Given the description of an element on the screen output the (x, y) to click on. 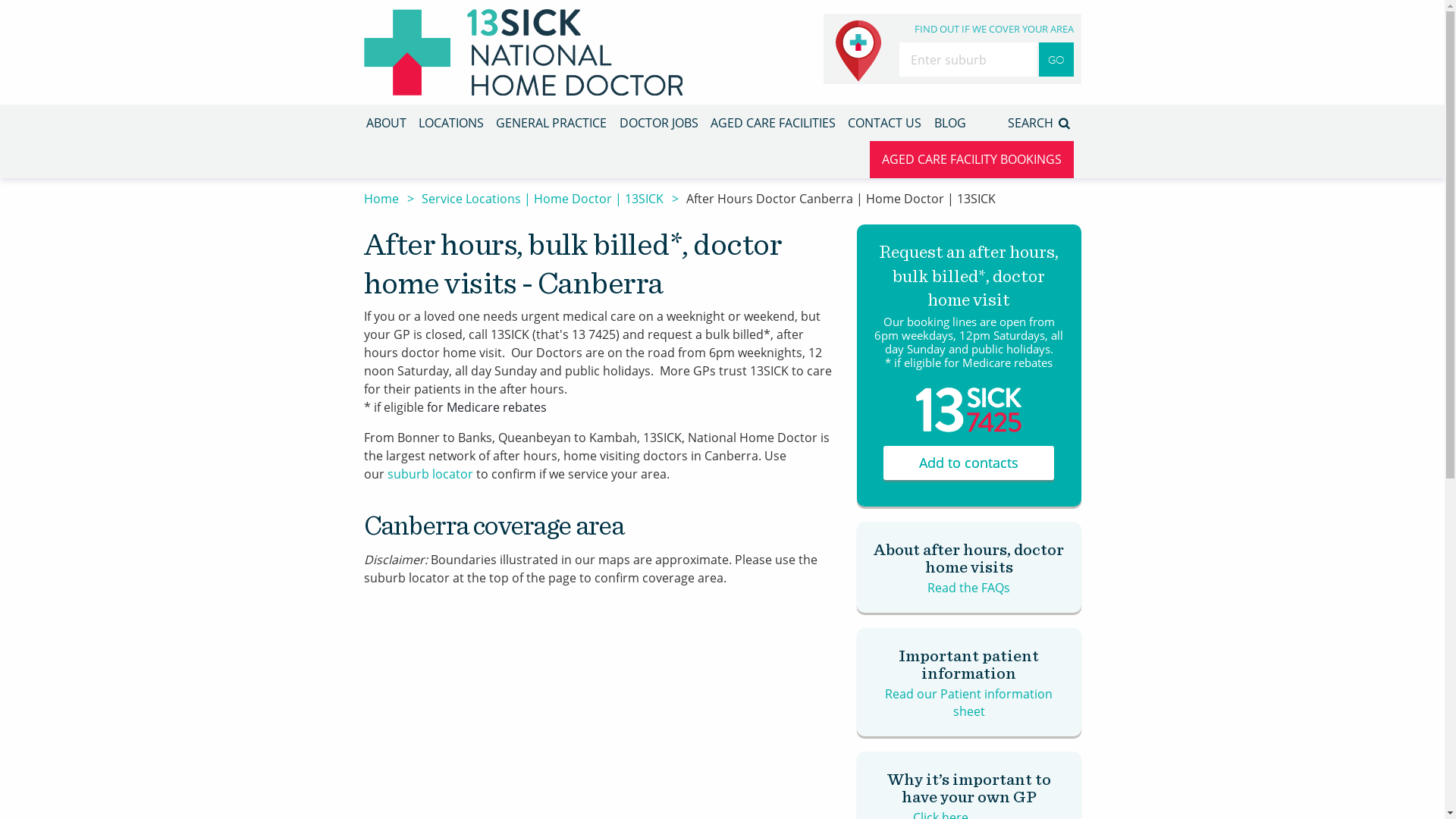
Add to contacts Element type: text (968, 462)
Read our Patient information sheet Element type: text (968, 702)
ABOUT Element type: text (385, 122)
AGED CARE FACILITIES Element type: text (772, 122)
National Home Doctor Element type: hover (523, 52)
Home Element type: text (381, 199)
suburb locator Element type: text (429, 473)
Service Locations | Home Doctor | 13SICK Element type: text (542, 199)
DOCTOR JOBS Element type: text (658, 122)
LOCATIONS Element type: text (450, 122)
GENERAL PRACTICE Element type: text (550, 122)
Read the FAQs Element type: text (968, 587)
BLOG Element type: text (950, 122)
After Hours Doctor Canberra | Home Doctor | 13SICK Element type: text (839, 199)
AGED CARE FACILITY BOOKINGS Element type: text (971, 159)
SEARCH Element type: text (1039, 122)
CONTACT US Element type: text (884, 122)
